Given the description of an element on the screen output the (x, y) to click on. 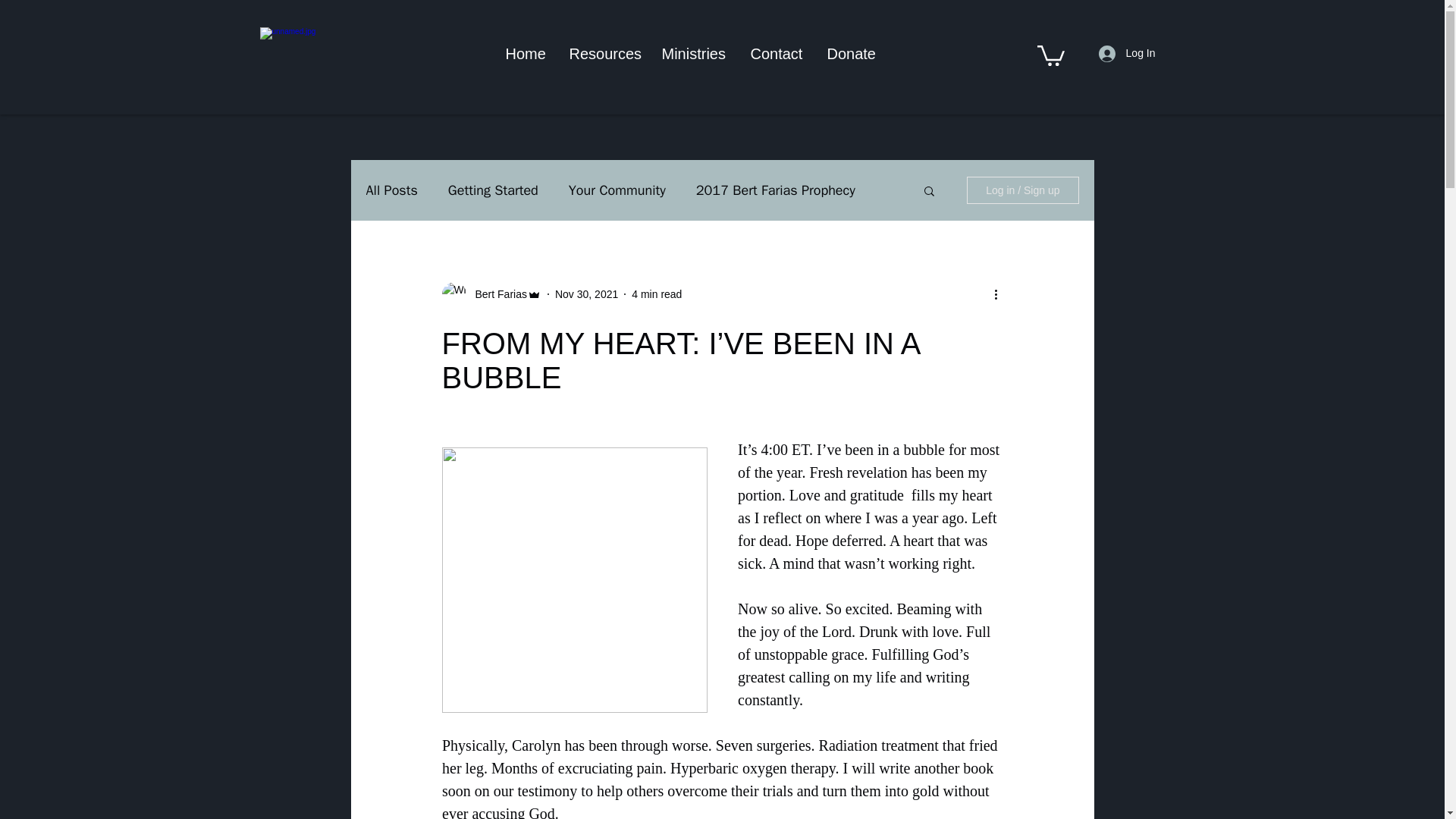
All Posts (390, 189)
Bert Farias (495, 294)
2017 Bert Farias Prophecy (775, 189)
Contact (776, 53)
Home (526, 53)
Nov 30, 2021 (585, 294)
Log In (1126, 53)
Donate (851, 53)
Your Community (617, 189)
Getting Started (493, 189)
4 min read (656, 294)
